Given the description of an element on the screen output the (x, y) to click on. 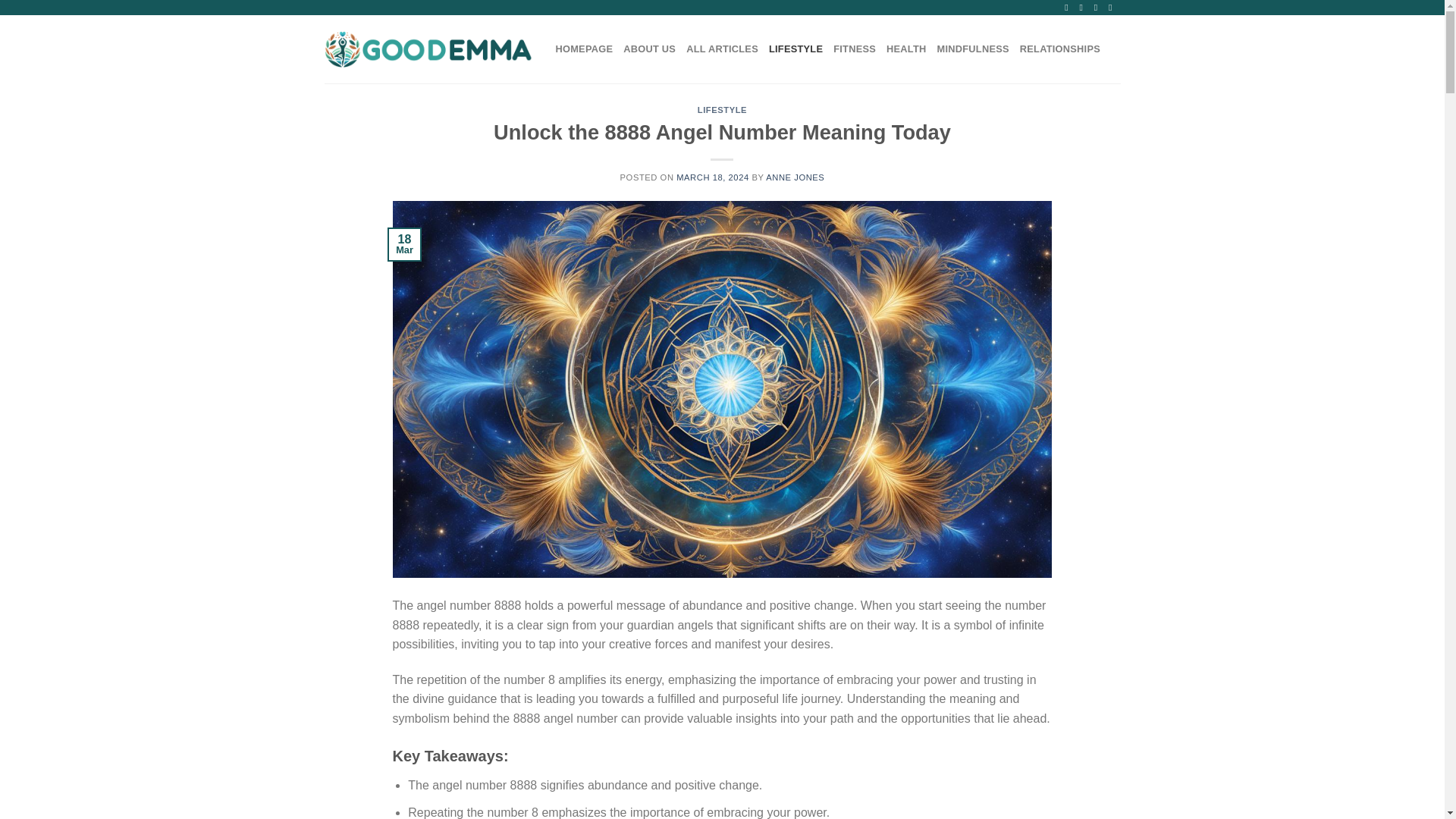
LIFESTYLE (795, 49)
HEALTH (906, 49)
HOMEPAGE (583, 49)
ABOUT US (649, 49)
ALL ARTICLES (721, 49)
LIFESTYLE (721, 109)
FITNESS (854, 49)
RELATIONSHIPS (1060, 49)
MINDFULNESS (973, 49)
ANNE JONES (794, 176)
MARCH 18, 2024 (713, 176)
